Given the description of an element on the screen output the (x, y) to click on. 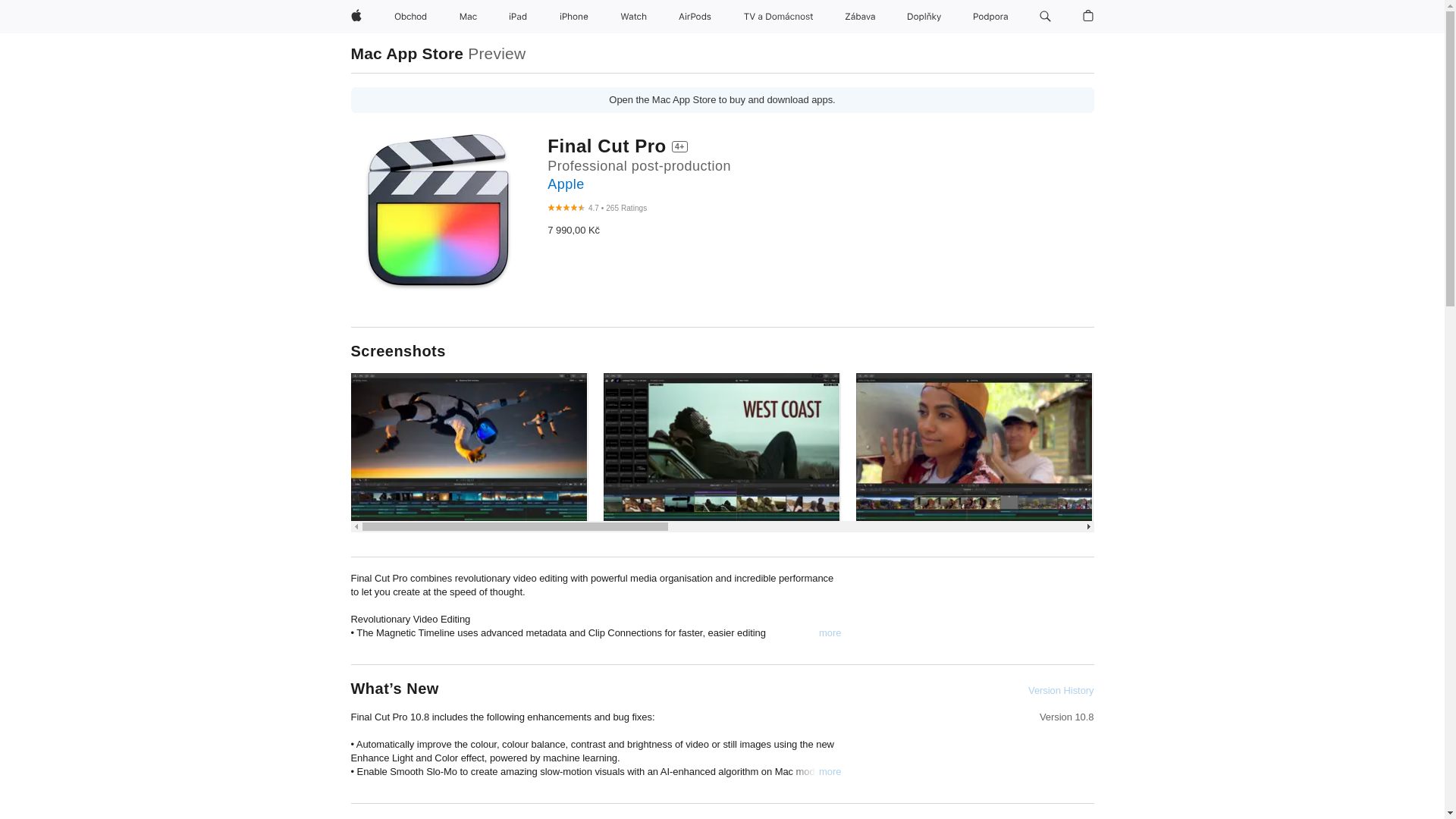
Mac App Store (406, 53)
Apple (565, 183)
iPad (517, 16)
AirPods (694, 16)
iPhone (573, 16)
more (829, 771)
Watch (633, 16)
more (829, 632)
Podpora (990, 16)
Obchod (410, 16)
Version History (1060, 690)
